Given the description of an element on the screen output the (x, y) to click on. 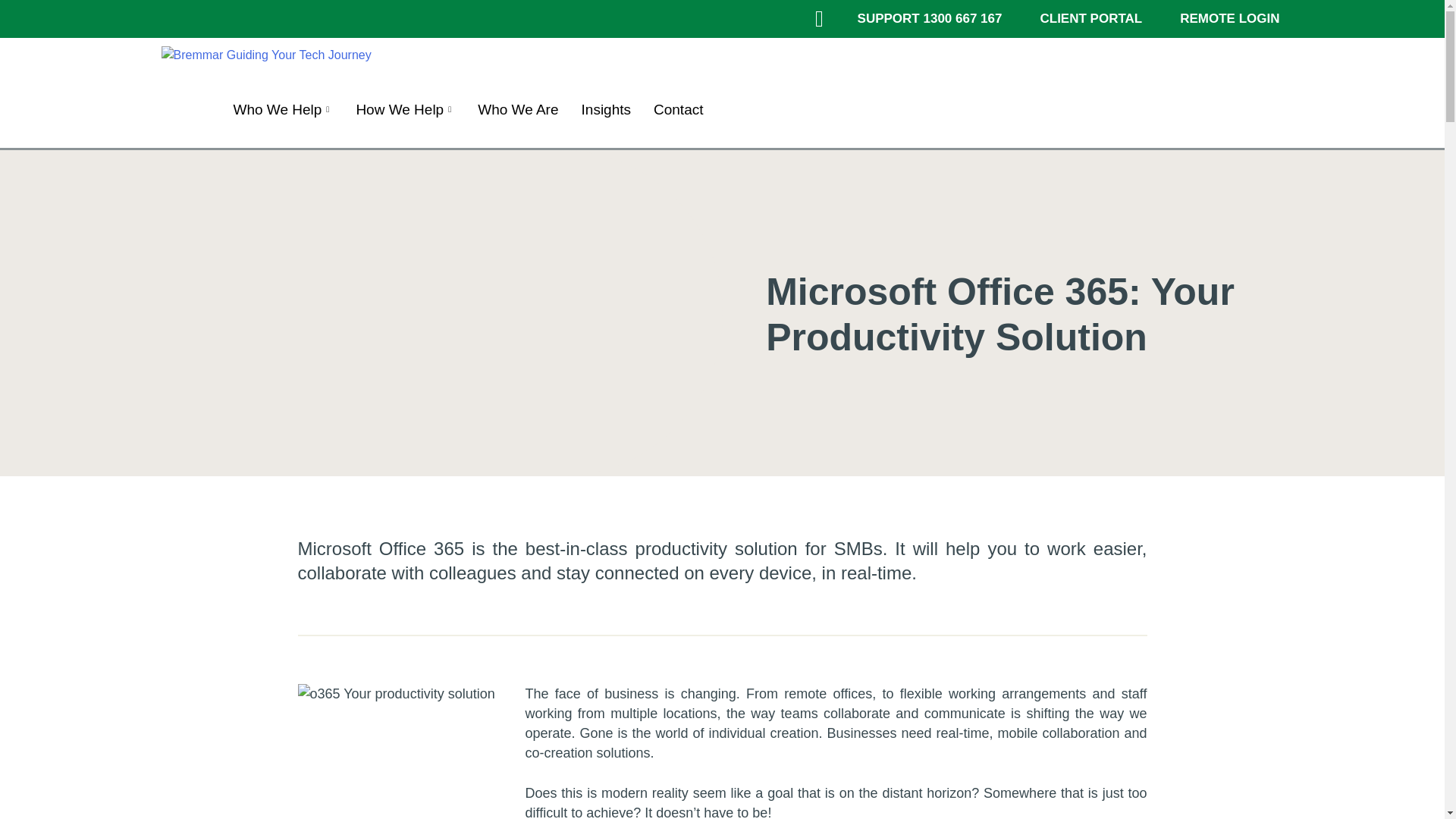
Bremmar Guiding Your Tech Journey (265, 54)
SUPPORT 1300 667 167 (930, 18)
REMOTE LOGIN (1229, 18)
CLIENT PORTAL (1090, 18)
Insights (606, 109)
Who We Help (282, 109)
Contact (678, 109)
How We Help (404, 109)
Who We Are (517, 109)
